Given the description of an element on the screen output the (x, y) to click on. 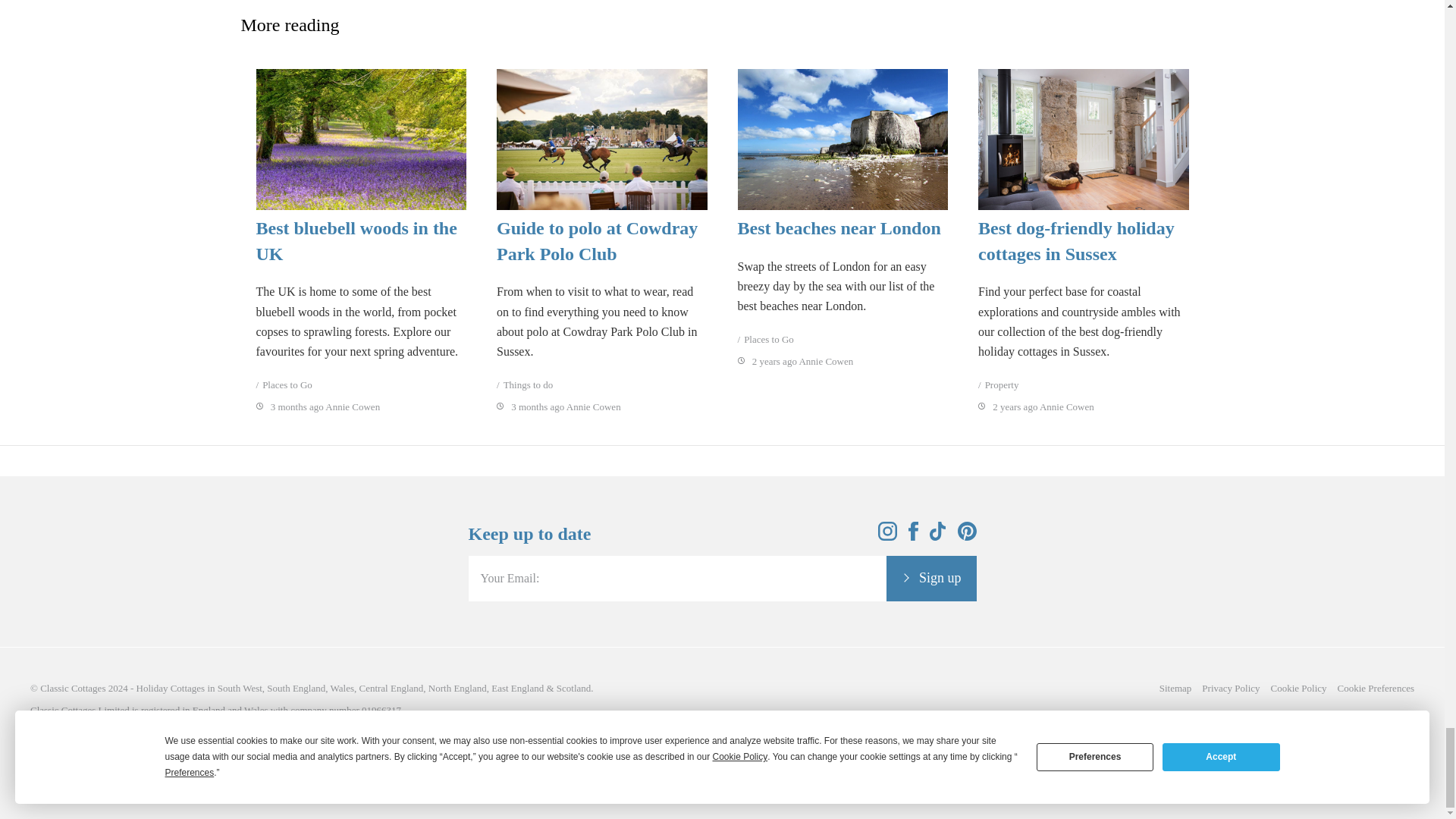
Follow Classic Cottages Pinterest (965, 535)
Follow Classic Cottages Tik Tok (938, 535)
Follow Classic Cottages Instagram (886, 535)
